Given the description of an element on the screen output the (x, y) to click on. 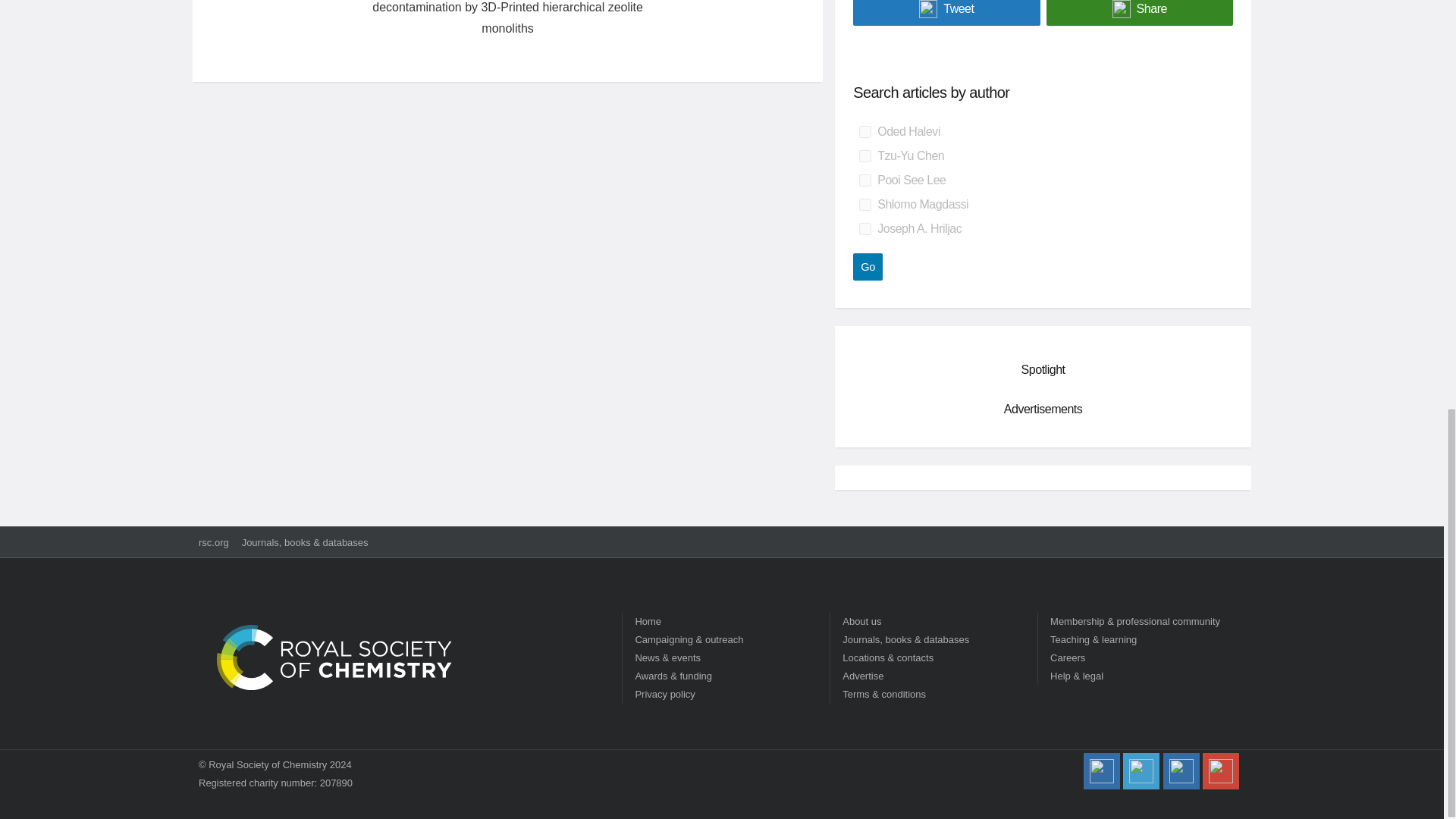
on (864, 155)
on (864, 204)
Go (867, 266)
on (864, 228)
Go (867, 266)
on (864, 132)
on (864, 180)
